Given the description of an element on the screen output the (x, y) to click on. 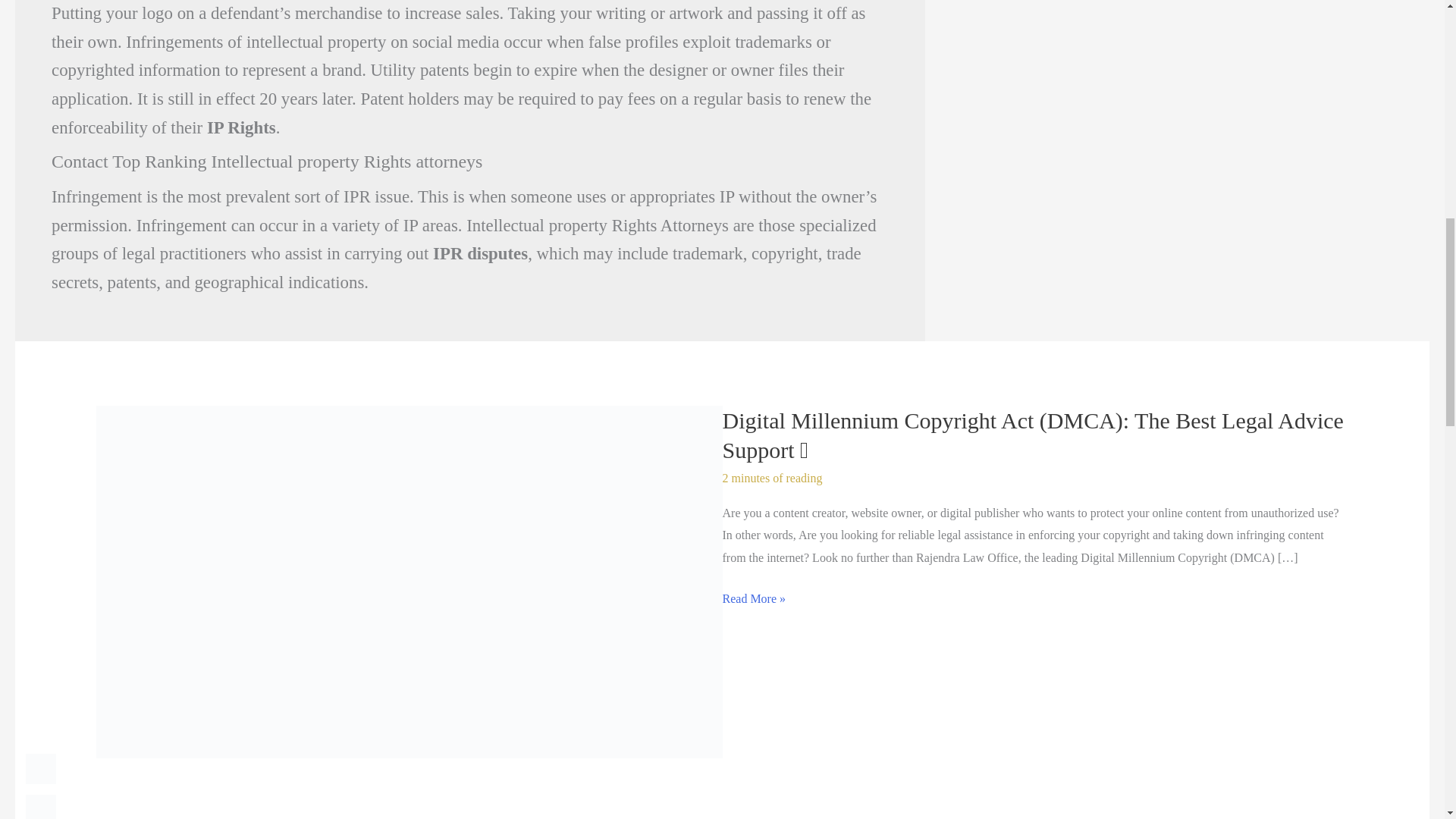
Follow by Email (41, 806)
RSS (41, 768)
